Given the description of an element on the screen output the (x, y) to click on. 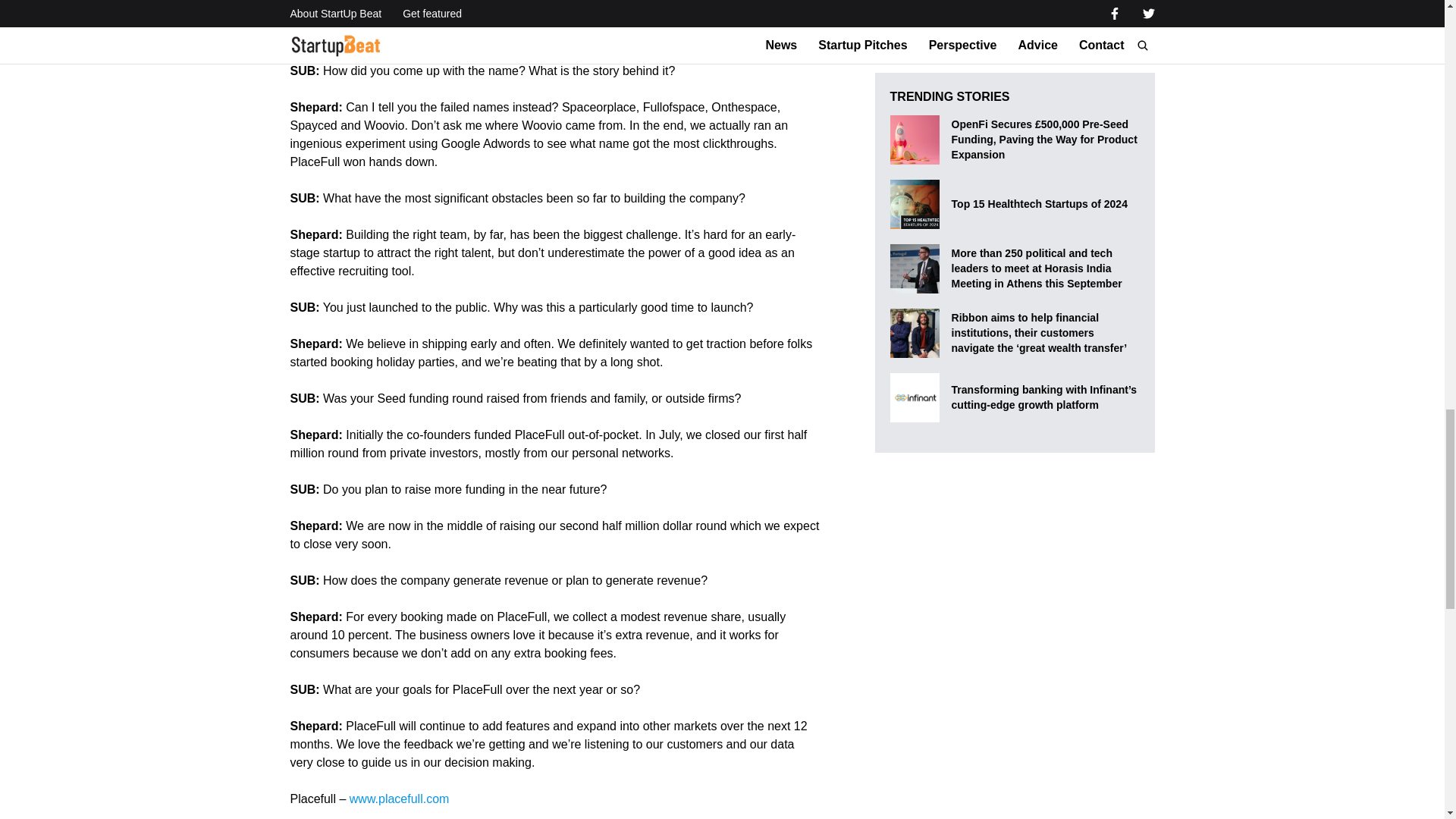
www.placefull.com (399, 798)
